Given the description of an element on the screen output the (x, y) to click on. 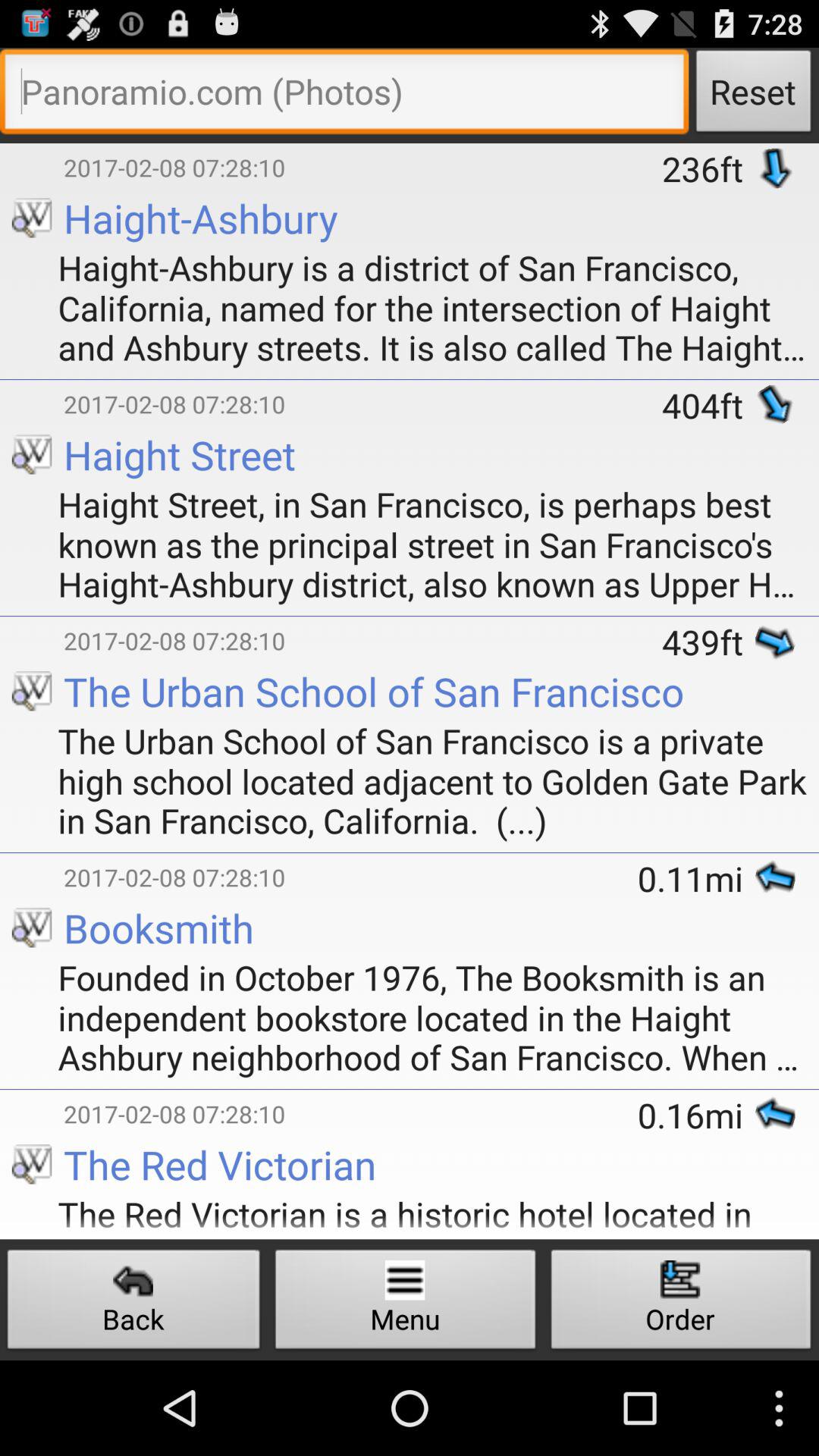
choose the button next to back icon (405, 1303)
